Given the description of an element on the screen output the (x, y) to click on. 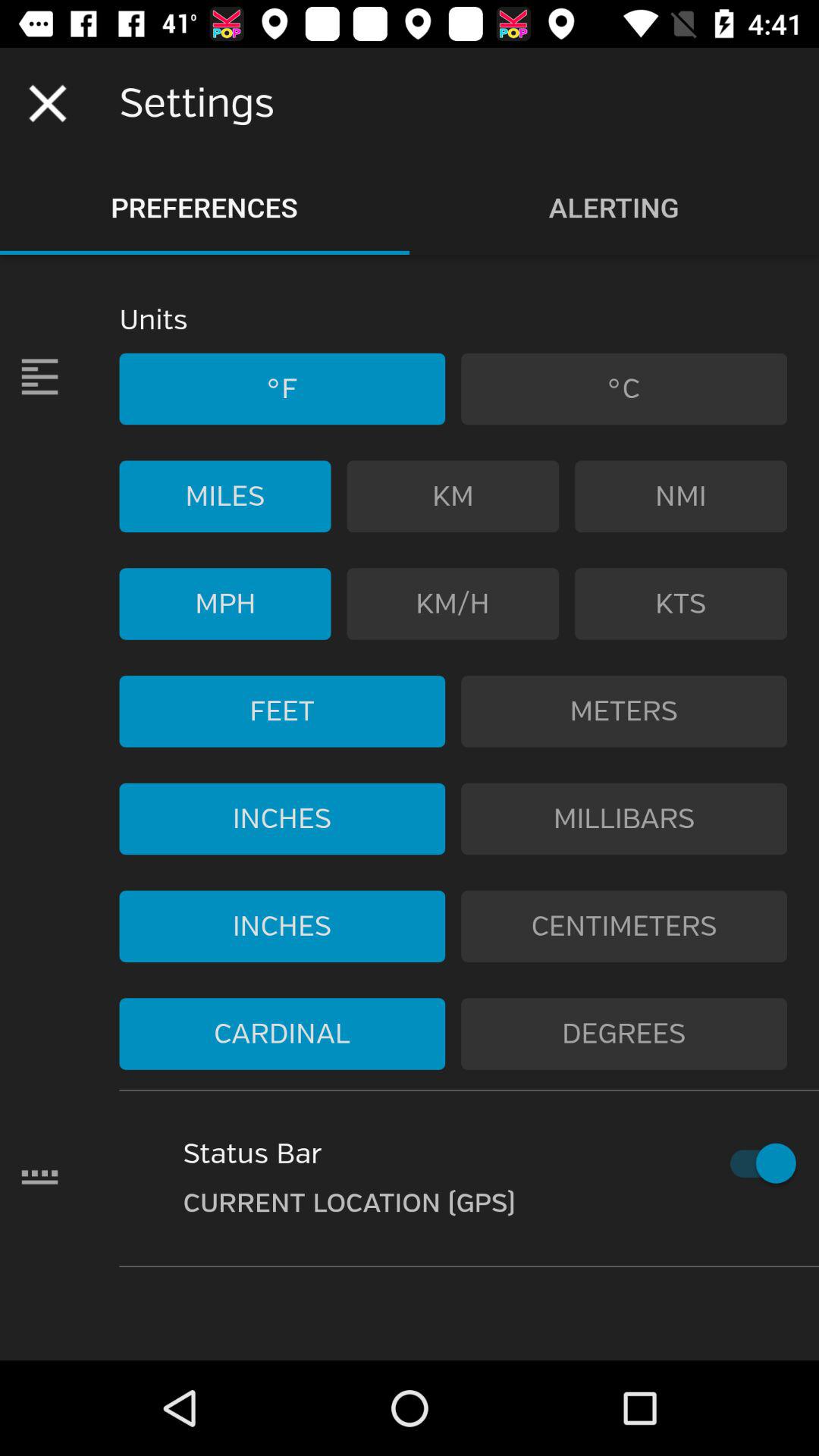
turn on icon below miles (225, 603)
